Given the description of an element on the screen output the (x, y) to click on. 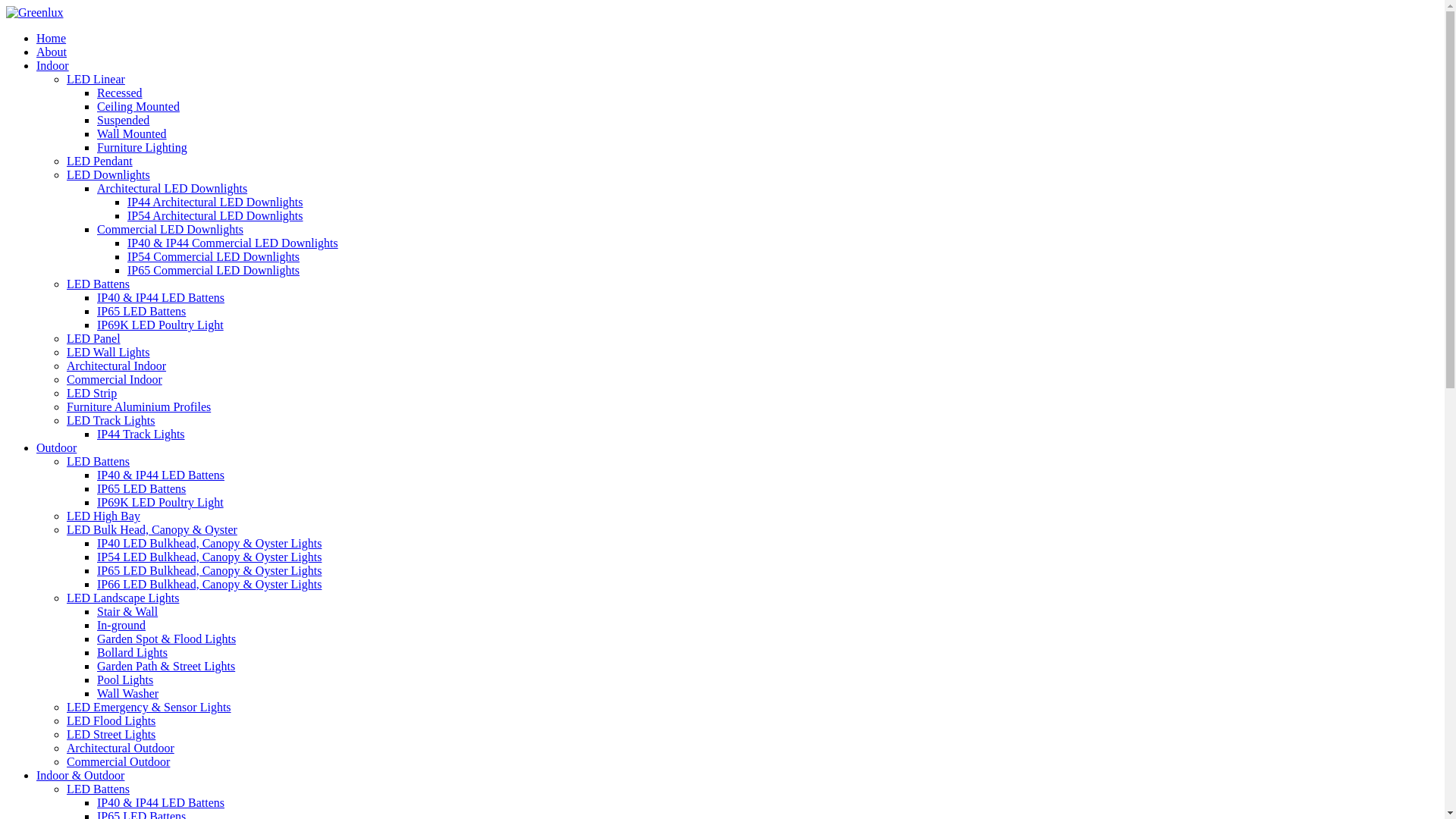
IP65 LED Battens Element type: text (141, 310)
LED Street Lights Element type: text (110, 734)
Commercial Outdoor Element type: text (117, 761)
IP40 LED Bulkhead, Canopy & Oyster Lights Element type: text (209, 542)
LED Flood Lights Element type: text (110, 720)
IP40 & IP44 LED Battens Element type: text (160, 297)
LED Wall Lights Element type: text (108, 351)
Indoor Element type: text (52, 65)
IP44 Architectural LED Downlights Element type: text (215, 201)
Bollard Lights Element type: text (132, 652)
IP65 Commercial LED Downlights Element type: text (213, 269)
LED Landscape Lights Element type: text (122, 597)
Indoor & Outdoor Element type: text (80, 774)
About Element type: text (51, 51)
LED High Bay Element type: text (103, 515)
Garden Spot & Flood Lights Element type: text (166, 638)
IP69K LED Poultry Light Element type: text (160, 501)
Furniture Aluminium Profiles Element type: text (138, 406)
Architectural LED Downlights Element type: text (172, 188)
IP66 LED Bulkhead, Canopy & Oyster Lights Element type: text (209, 583)
LED Emergency & Sensor Lights Element type: text (148, 706)
Wall Washer Element type: text (127, 693)
IP40 & IP44 LED Battens Element type: text (160, 802)
LED Pendant Element type: text (99, 160)
Garden Path & Street Lights Element type: text (166, 665)
IP44 Track Lights Element type: text (141, 433)
Commercial Indoor Element type: text (114, 379)
IP54 Architectural LED Downlights Element type: text (215, 215)
LED Battens Element type: text (97, 788)
In-ground Element type: text (121, 624)
Commercial LED Downlights Element type: text (170, 228)
LED Downlights Element type: text (108, 174)
Outdoor Element type: text (56, 447)
LED Track Lights Element type: text (110, 420)
IP65 LED Bulkhead, Canopy & Oyster Lights Element type: text (209, 570)
Furniture Lighting Element type: text (142, 147)
Stair & Wall Element type: text (127, 611)
LED Linear Element type: text (95, 78)
LED Bulk Head, Canopy & Oyster Element type: text (151, 529)
Home Element type: text (50, 37)
IP40 & IP44 LED Battens Element type: text (160, 474)
IP54 LED Bulkhead, Canopy & Oyster Lights Element type: text (209, 556)
LED Panel Element type: text (93, 338)
LED Battens Element type: text (97, 461)
Architectural Indoor Element type: text (116, 365)
Recessed Element type: text (119, 92)
IP65 LED Battens Element type: text (141, 488)
LED Battens Element type: text (97, 283)
Architectural Outdoor Element type: text (120, 747)
IP40 & IP44 Commercial LED Downlights Element type: text (232, 242)
IP69K LED Poultry Light Element type: text (160, 324)
LED Strip Element type: text (91, 392)
Wall Mounted Element type: text (131, 133)
Ceiling Mounted Element type: text (138, 106)
Suspended Element type: text (123, 119)
IP54 Commercial LED Downlights Element type: text (213, 256)
Pool Lights Element type: text (125, 679)
